Given the description of an element on the screen output the (x, y) to click on. 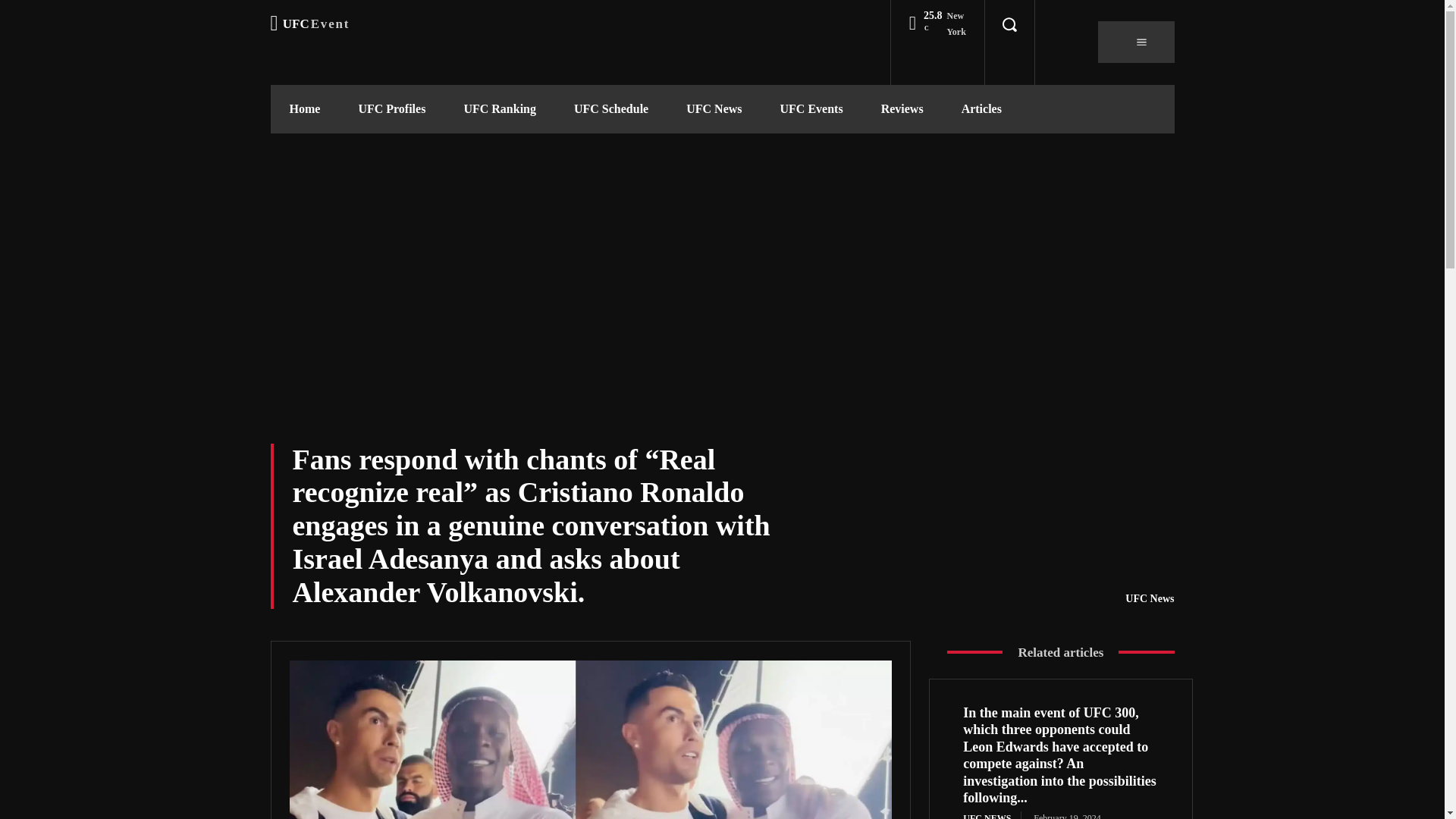
UFC News (1149, 598)
UFC Events (811, 109)
UFC Profiles (391, 109)
Articles (981, 109)
UFC News (713, 109)
UFC Schedule (610, 109)
Home (304, 109)
Reviews (901, 109)
c8160-16984660436454-1920 (590, 739)
UFC Ranking (499, 109)
